Given the description of an element on the screen output the (x, y) to click on. 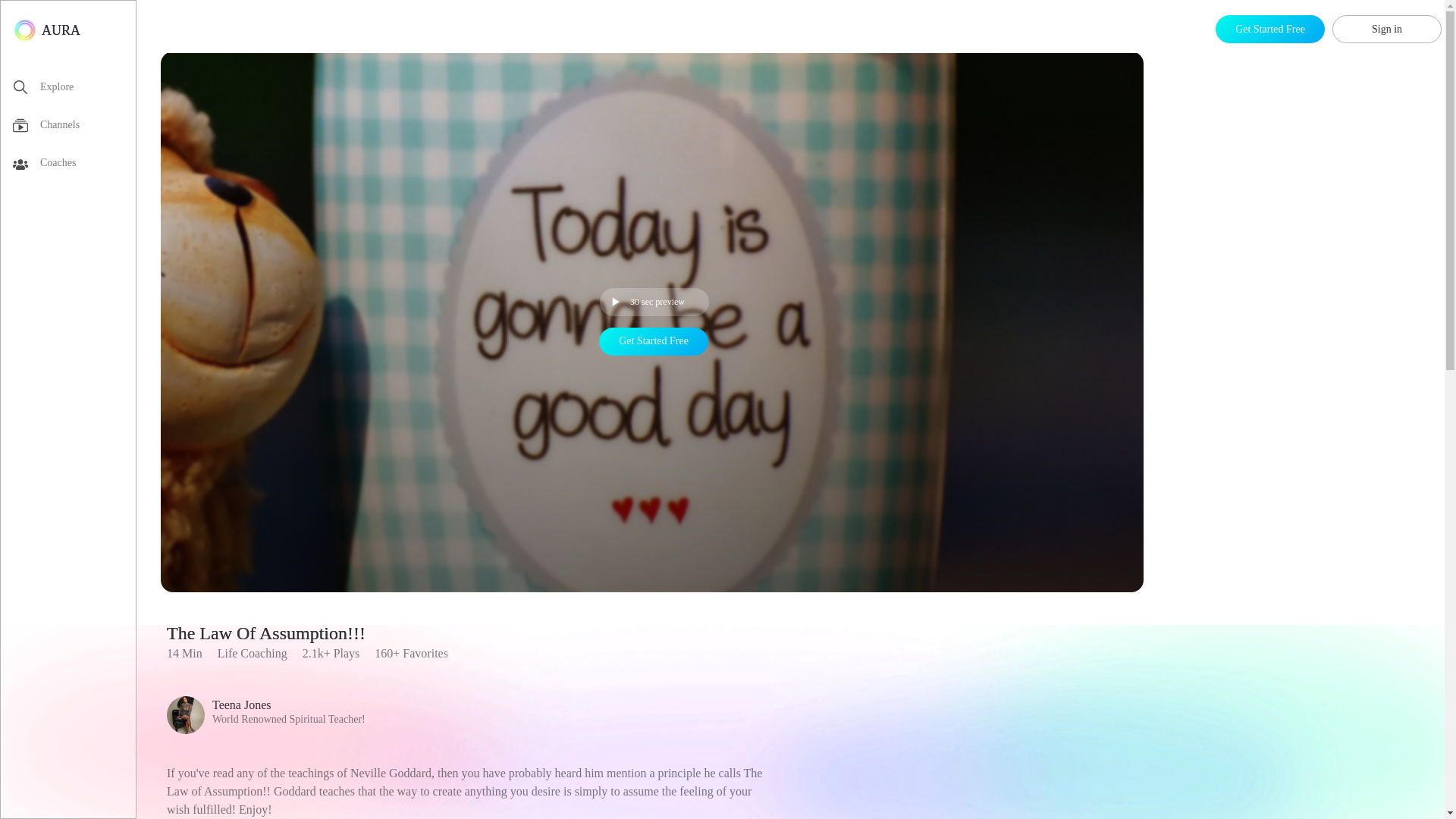
Explore (74, 89)
Channels (74, 127)
Coaches (266, 714)
AURA (74, 166)
